Given the description of an element on the screen output the (x, y) to click on. 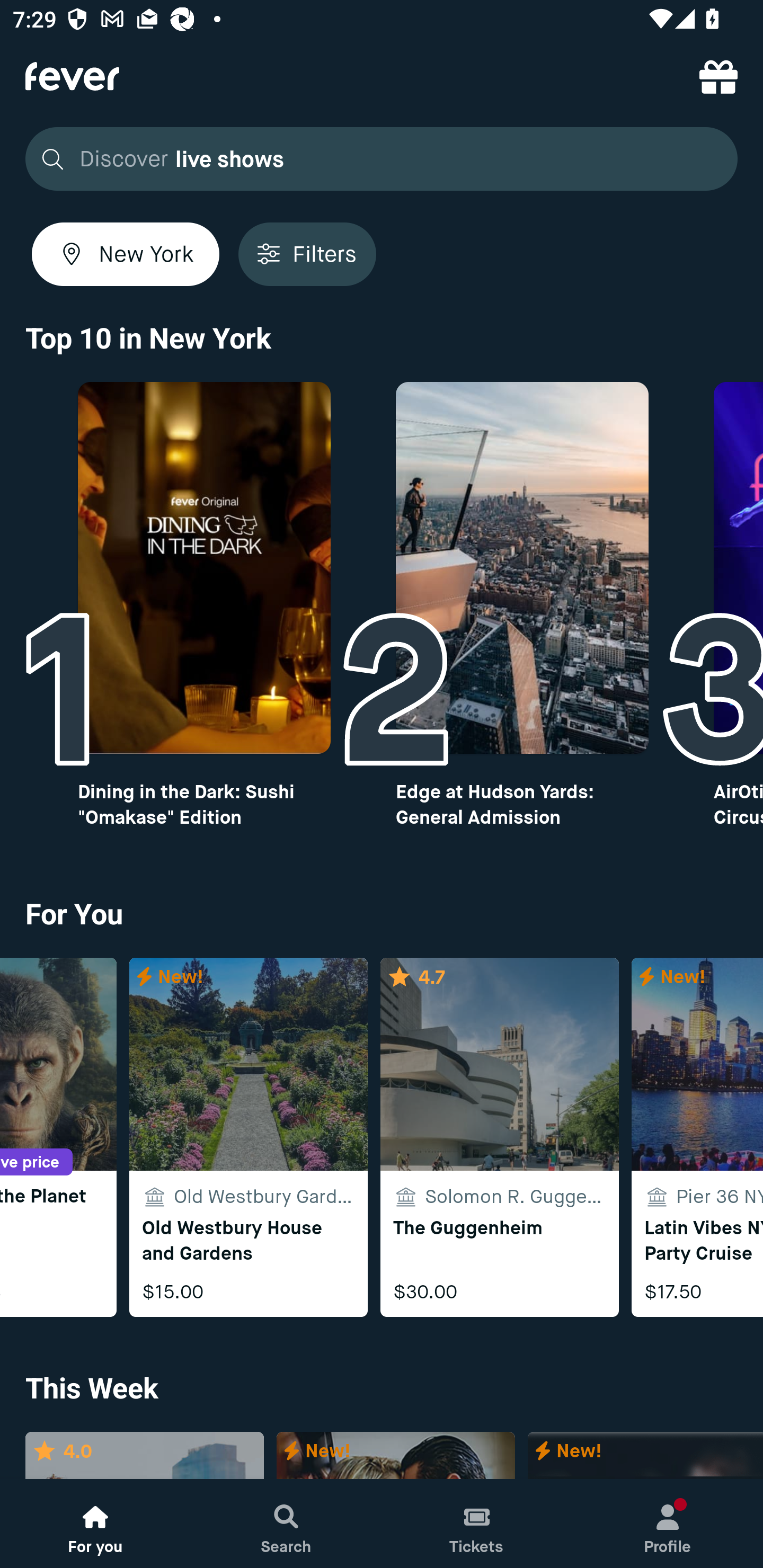
referral (718, 75)
Discover live shows (381, 158)
Discover live shows (376, 158)
New York (125, 253)
Filters (307, 253)
Top10 image (203, 568)
Top10 image (521, 568)
Search (285, 1523)
Tickets (476, 1523)
Profile, New notification Profile (667, 1523)
